Given the description of an element on the screen output the (x, y) to click on. 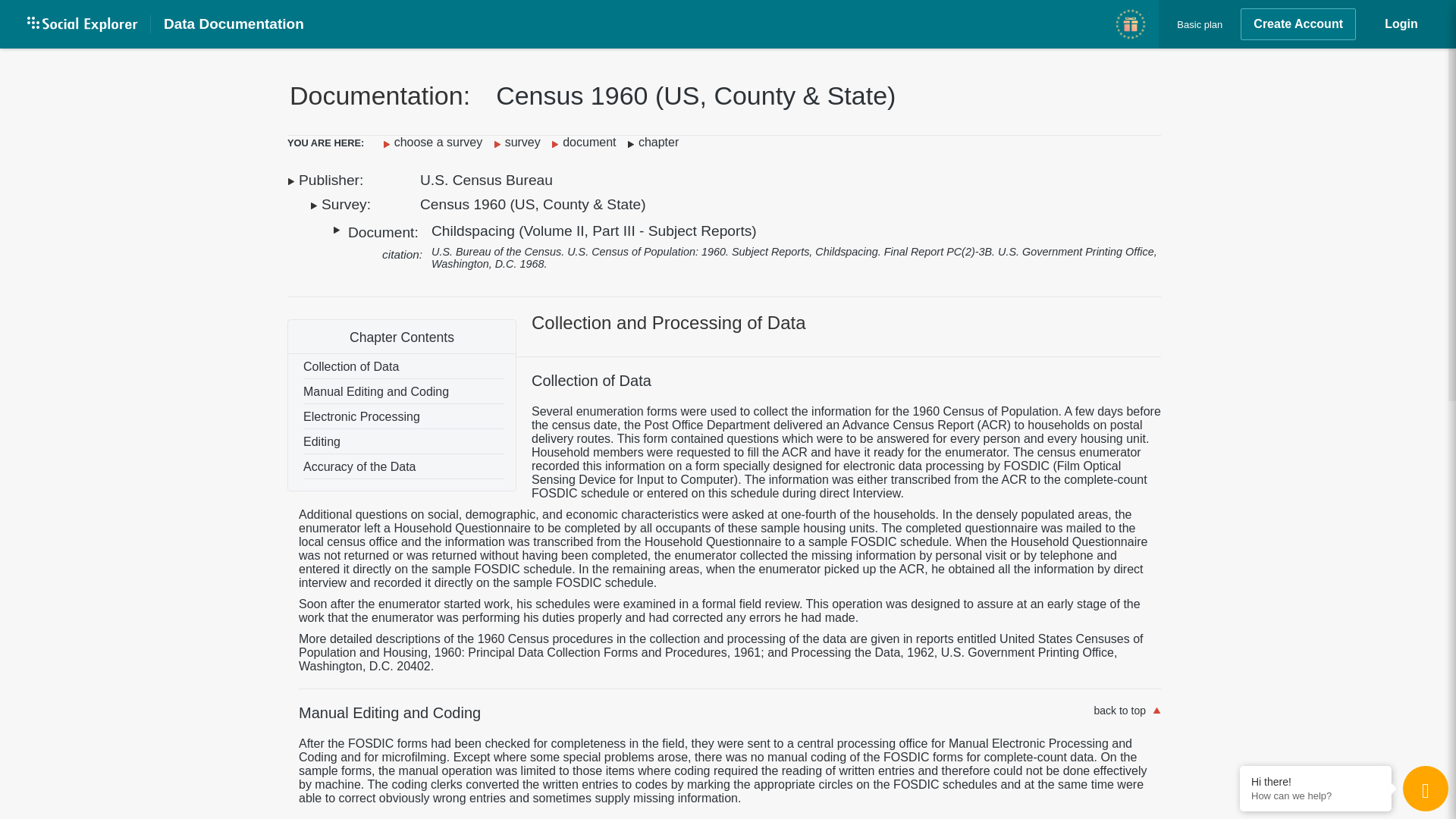
How can we help? (1315, 795)
Login (1401, 24)
Create Account (1297, 24)
Accuracy of the Data (402, 466)
document (587, 141)
Editing (402, 441)
Collection of Data (402, 366)
News and Updates (1130, 23)
Hi there! (1315, 781)
Manual Editing and Coding (402, 391)
back to top (1119, 710)
choose a survey (436, 141)
Electronic Processing (402, 416)
survey (520, 141)
